Given the description of an element on the screen output the (x, y) to click on. 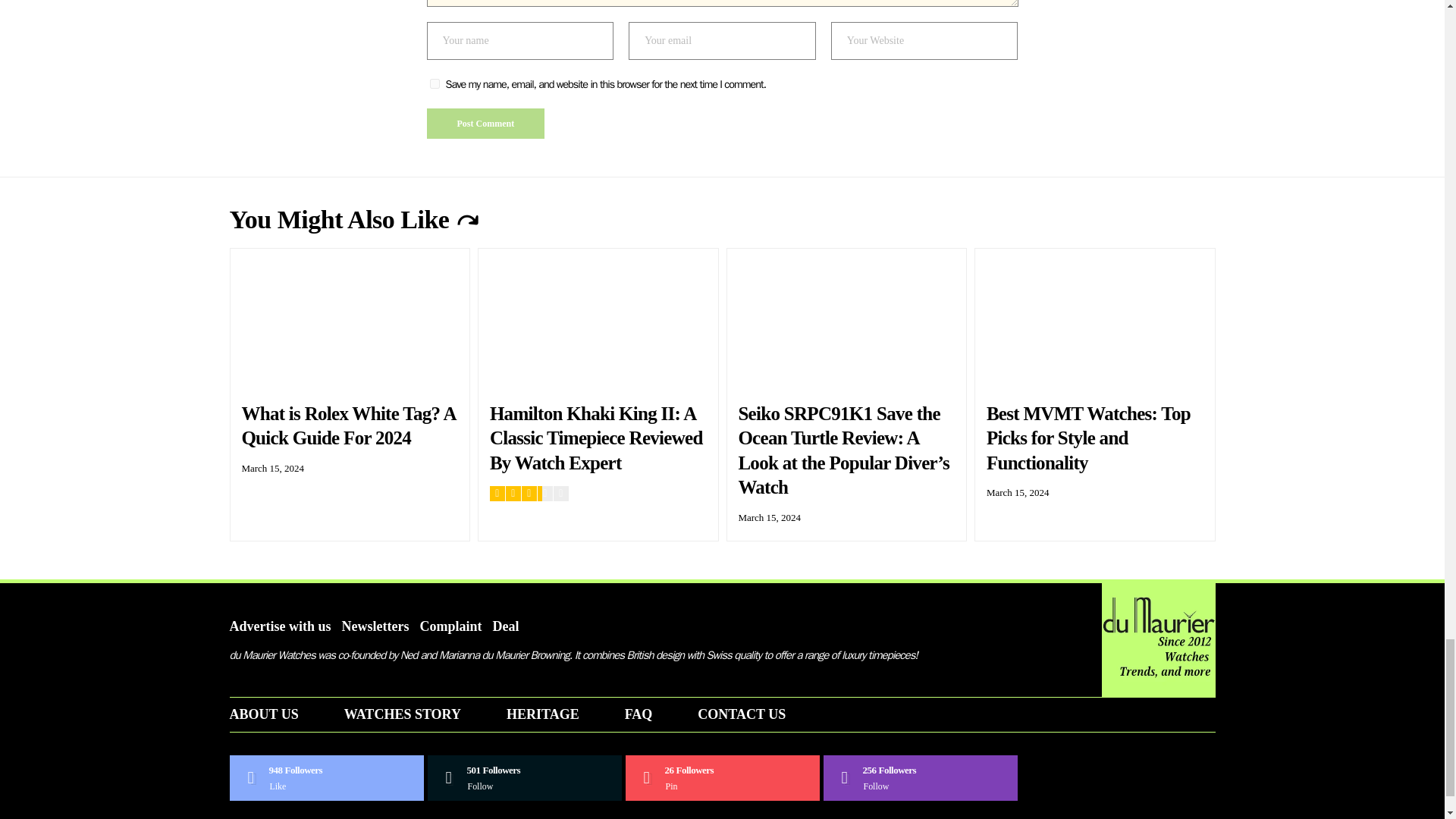
Post Comment (485, 123)
yes (434, 83)
